Given the description of an element on the screen output the (x, y) to click on. 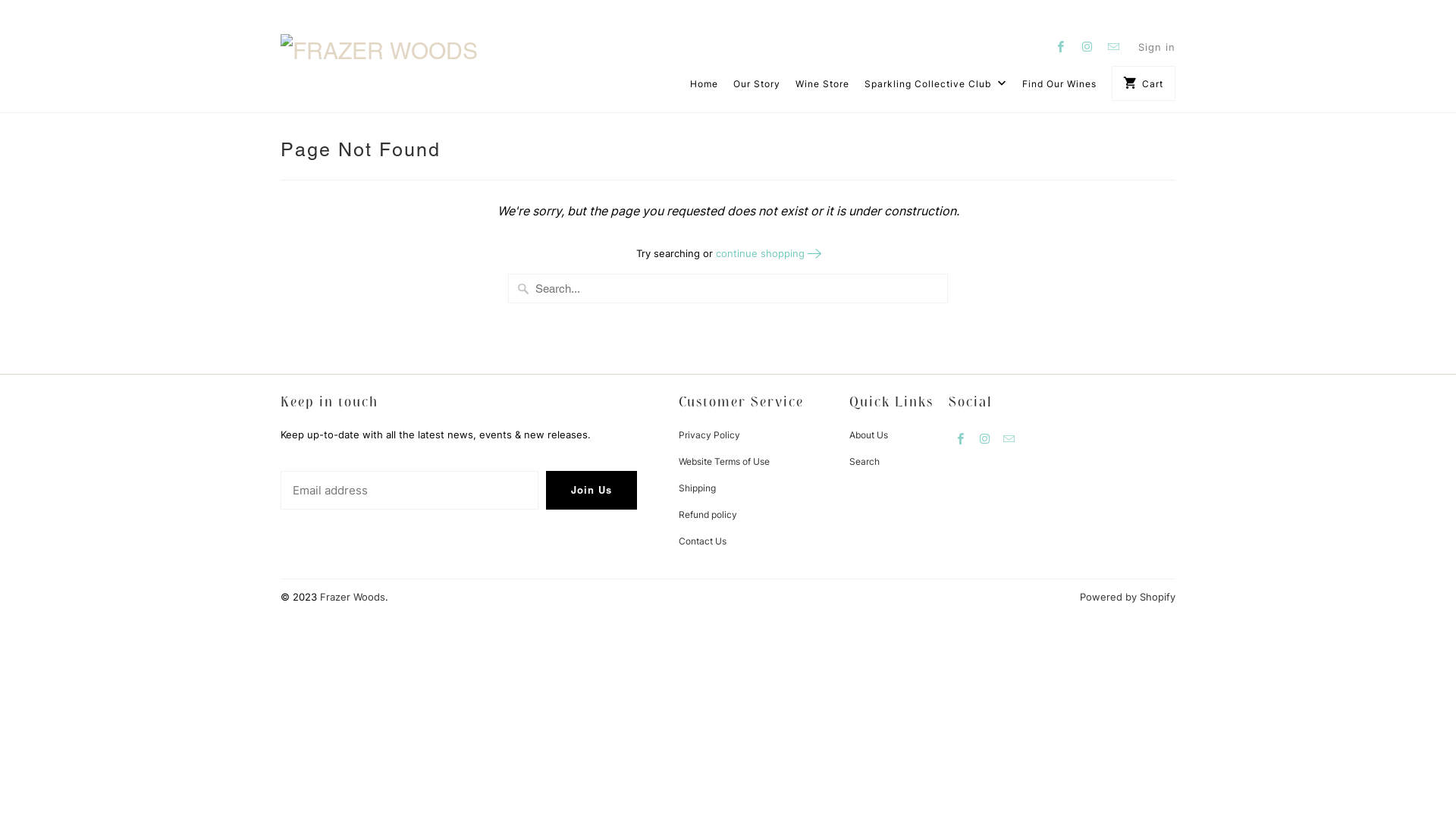
continue shopping Element type: text (767, 253)
Search Element type: text (864, 461)
Cart Element type: text (1143, 82)
Powered by Shopify Element type: text (1127, 596)
Email Frazer Woods Element type: hover (1009, 438)
Home Element type: text (704, 87)
Frazer Woods Element type: text (352, 596)
Our Story Element type: text (756, 87)
Contact Us Element type: text (702, 540)
Wine Store Element type: text (822, 87)
Sparkling Collective Club Element type: text (935, 87)
Sign in Element type: text (1156, 46)
About Us Element type: text (868, 434)
Refund policy Element type: text (707, 514)
Frazer Woods on Instagram Element type: hover (984, 438)
Website Terms of Use Element type: text (723, 461)
Privacy Policy Element type: text (709, 434)
Join Us Element type: text (591, 489)
Find Our Wines Element type: text (1059, 87)
Shipping Element type: text (696, 487)
Frazer Woods on Instagram Element type: hover (1087, 46)
Frazer Woods on Facebook Element type: hover (1060, 46)
Frazer Woods on Facebook Element type: hover (960, 438)
Frazer Woods Element type: hover (386, 44)
Email Frazer Woods Element type: hover (1113, 46)
